Given the description of an element on the screen output the (x, y) to click on. 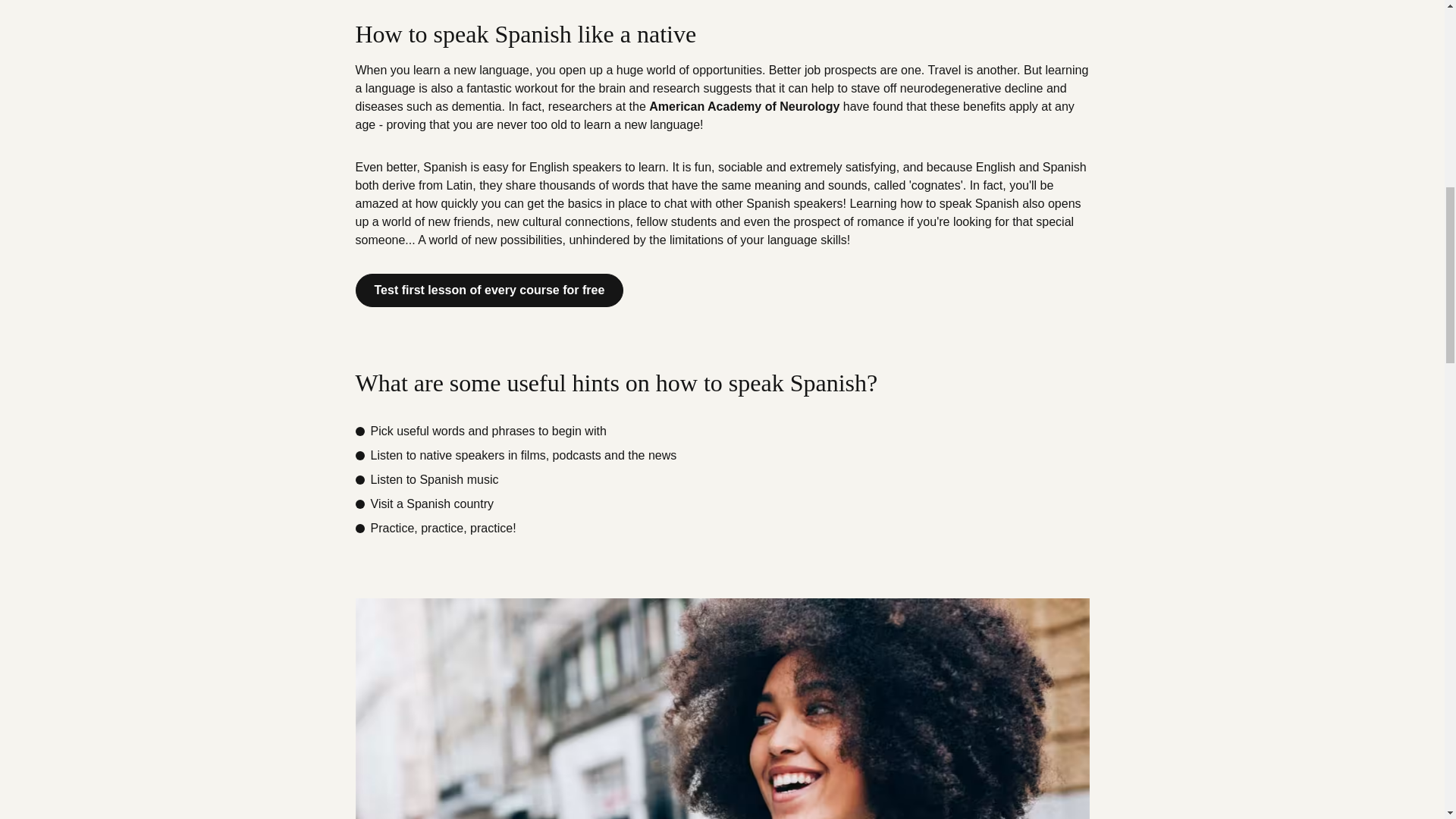
Test first lesson of every course for free (489, 290)
